Given the description of an element on the screen output the (x, y) to click on. 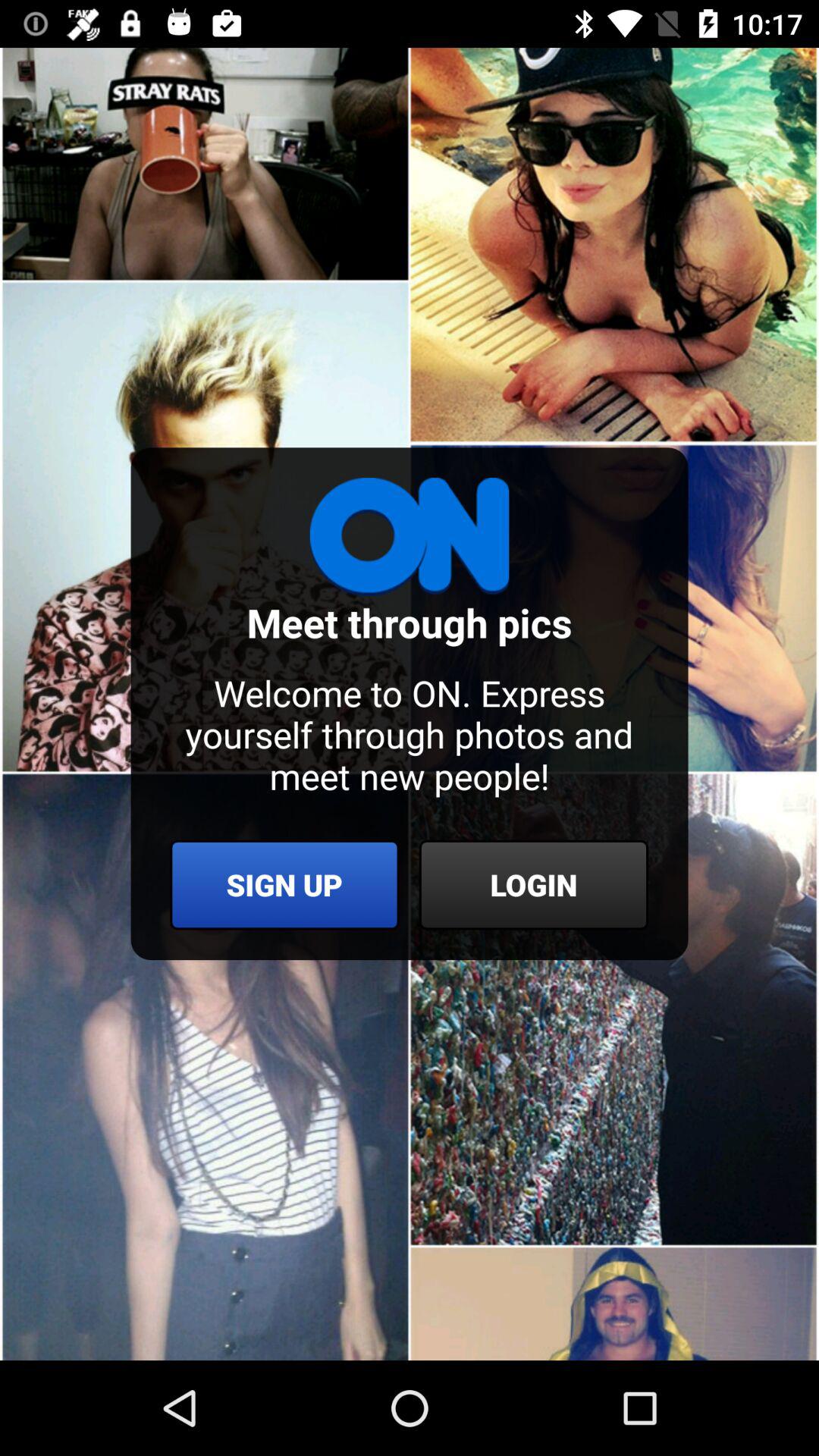
press the login icon (533, 884)
